Given the description of an element on the screen output the (x, y) to click on. 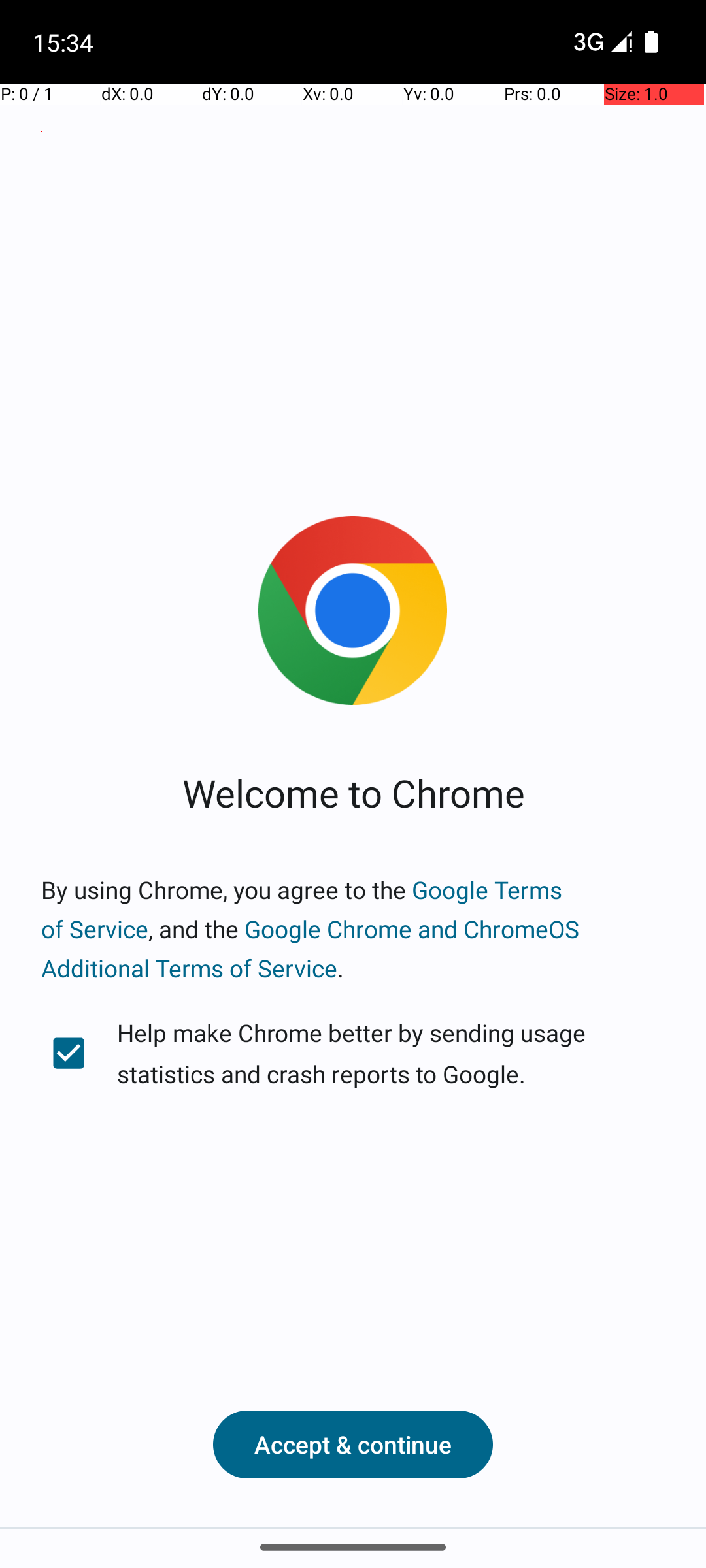
Accept & continue Element type: android.widget.Button (352, 1444)
By using Chrome, you agree to the Google Terms of Service, and the Google Chrome and ChromeOS Additional Terms of Service. Element type: android.widget.TextView (352, 928)
Help make Chrome better by sending usage statistics and crash reports to Google. Element type: android.widget.CheckBox (352, 1053)
